Given the description of an element on the screen output the (x, y) to click on. 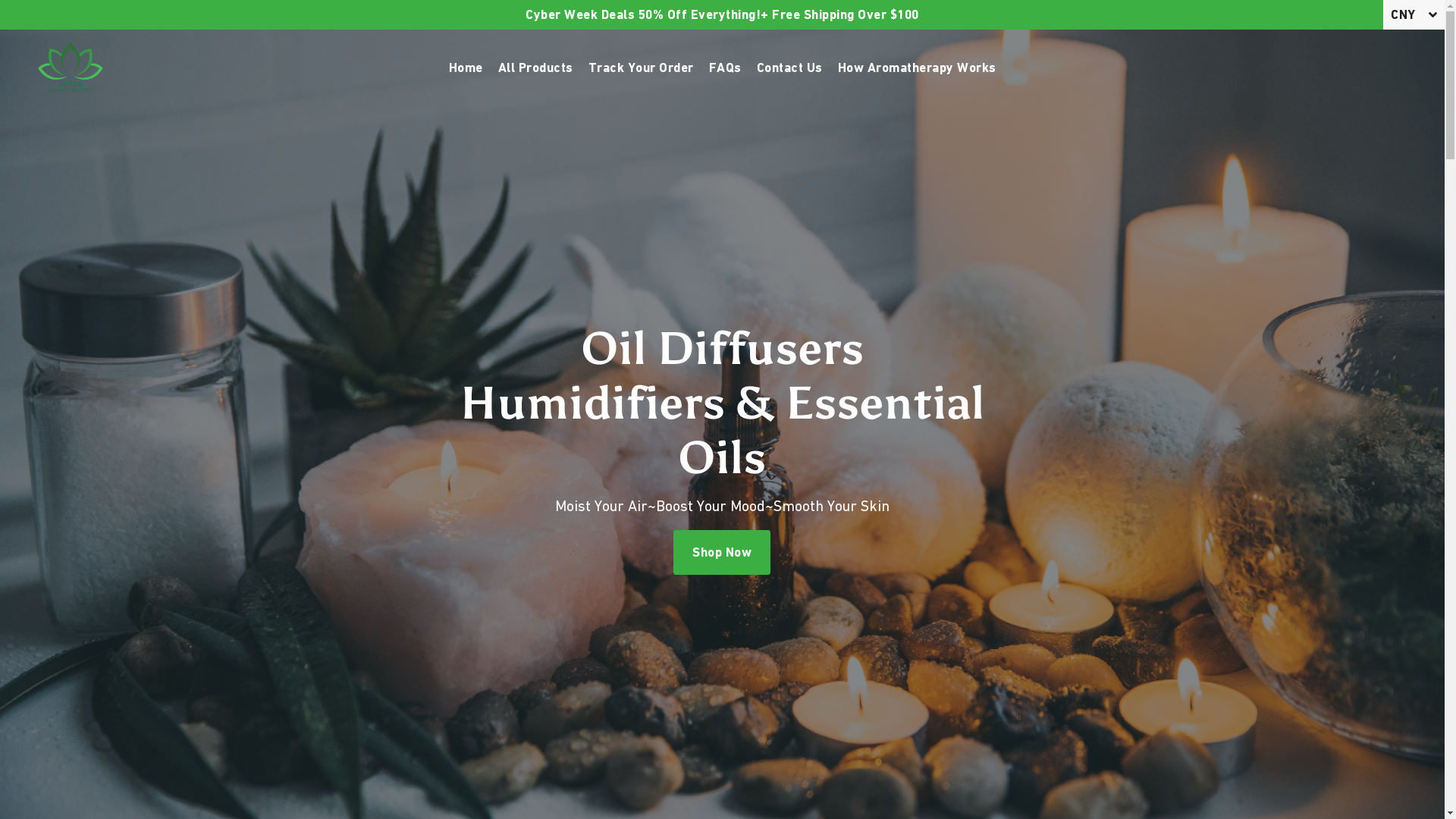
How Aromatherapy Works Element type: text (916, 66)
Track Your Order Element type: text (640, 66)
Contact Us Element type: text (789, 66)
Cart Element type: text (1415, 66)
FAQs Element type: text (724, 66)
All Products Element type: text (534, 66)
Home Element type: text (465, 66)
Search Element type: text (1403, 66)
Shop Now Element type: text (721, 552)
